Given the description of an element on the screen output the (x, y) to click on. 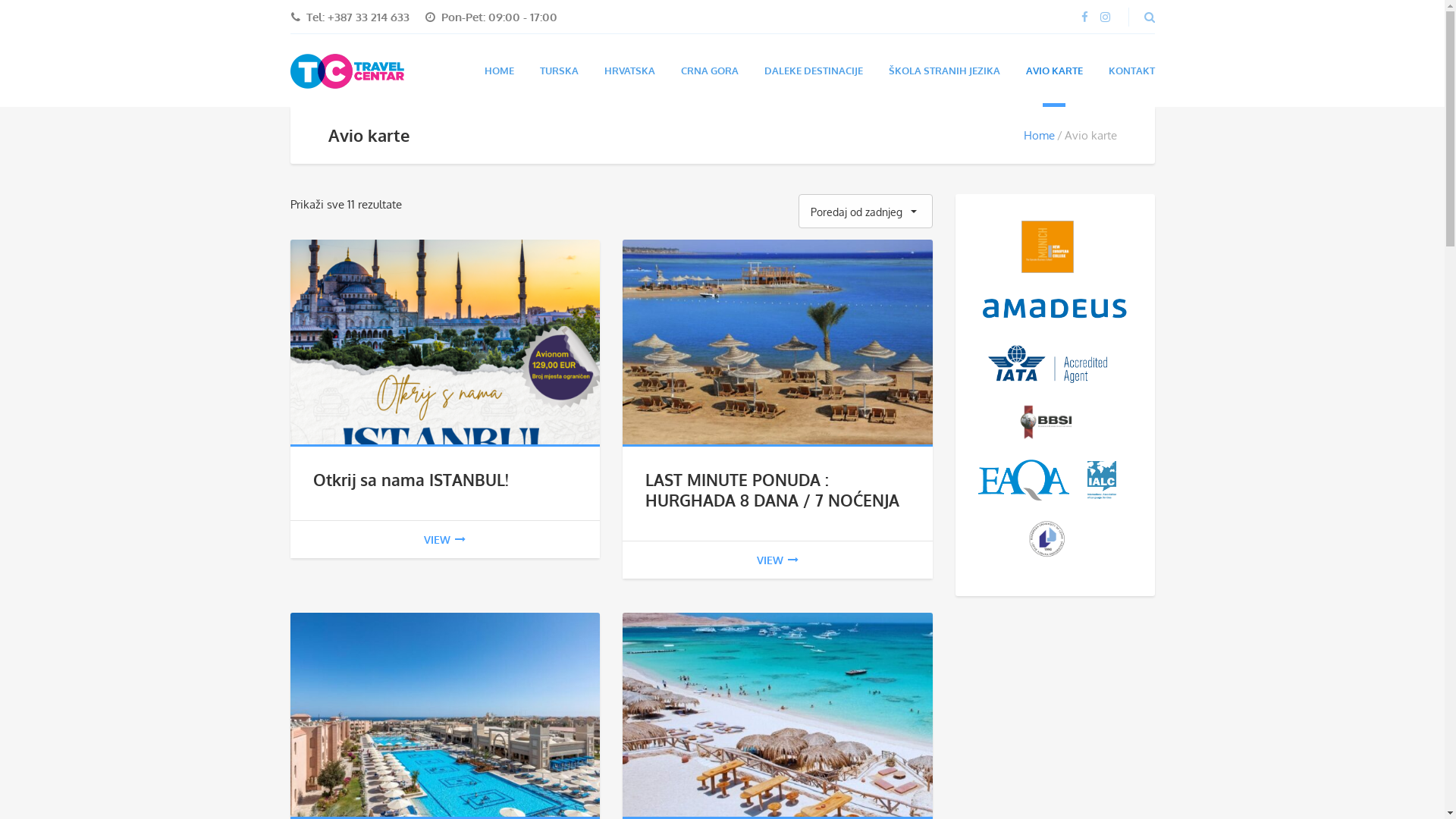
DALEKE DESTINACIJE Element type: text (813, 70)
Otkrij sa nama ISTANBUL! Element type: text (410, 478)
HOME Element type: text (498, 70)
VIEW Element type: text (444, 539)
VIEW Element type: text (777, 559)
Poredaj od zadnjeg
  Element type: text (865, 211)
CRNA GORA Element type: text (709, 70)
KONTAKT Element type: text (1131, 70)
Home Element type: text (1038, 135)
TURSKA Element type: text (558, 70)
HRVATSKA Element type: text (628, 70)
AVIO KARTE Element type: text (1053, 70)
